Given the description of an element on the screen output the (x, y) to click on. 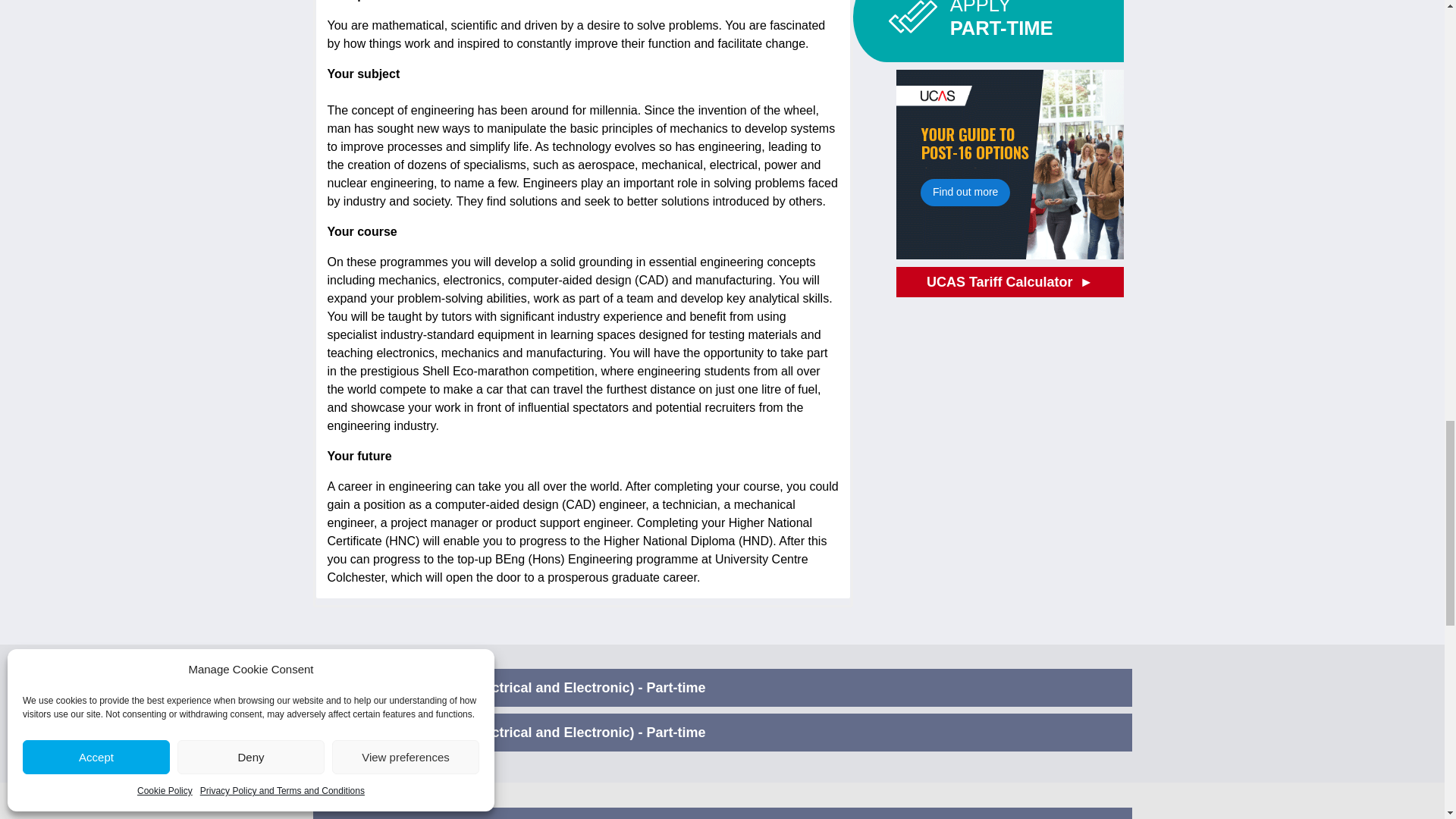
Apply Part-Time (987, 30)
